Given the description of an element on the screen output the (x, y) to click on. 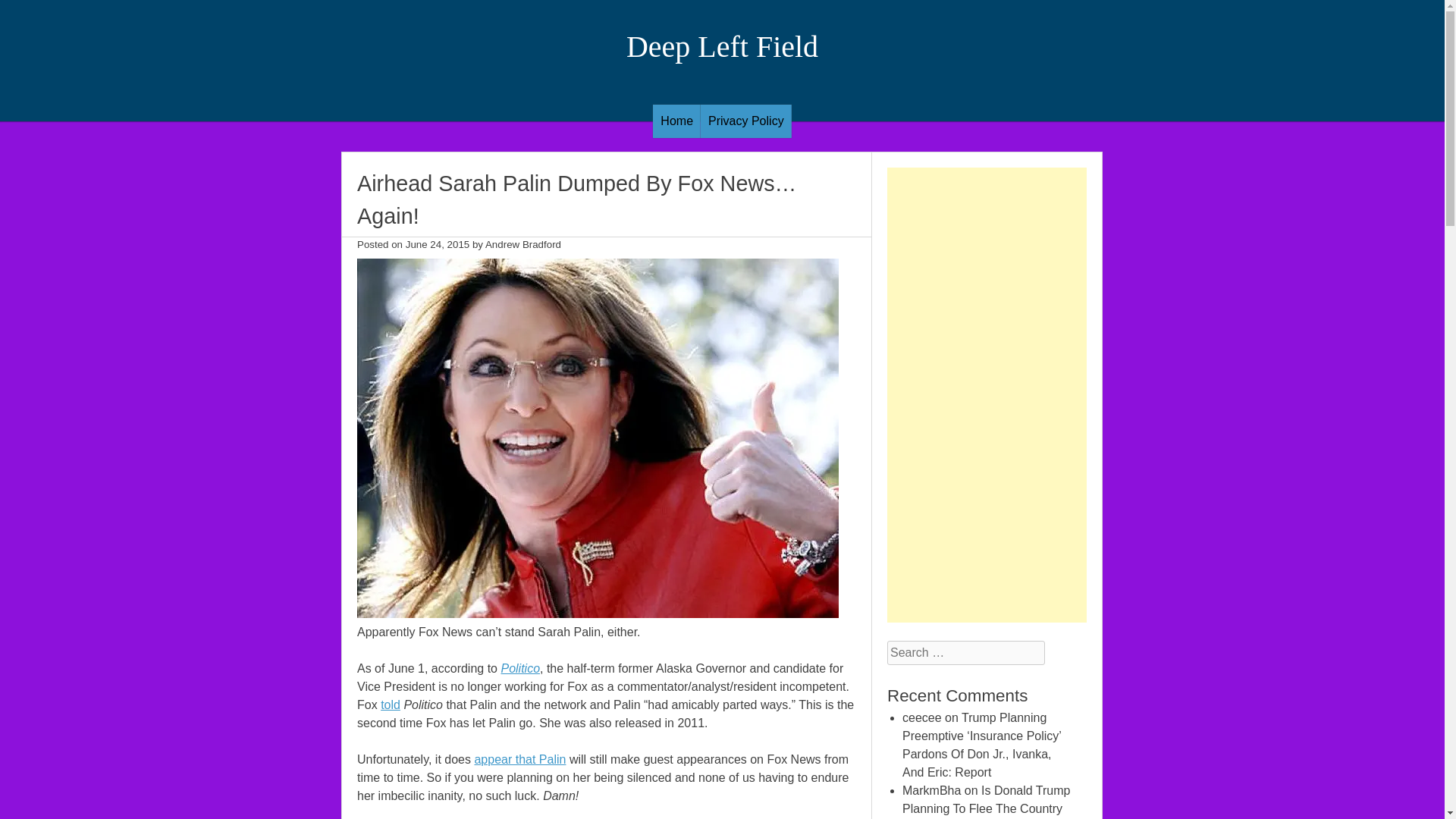
June 24, 2015 (438, 244)
Politico (520, 667)
Deep Left Field (722, 46)
Privacy Policy (745, 121)
told (390, 704)
appear that Palin (520, 758)
Home (677, 121)
Andrew Bradford (522, 244)
Search (24, 9)
